Given the description of an element on the screen output the (x, y) to click on. 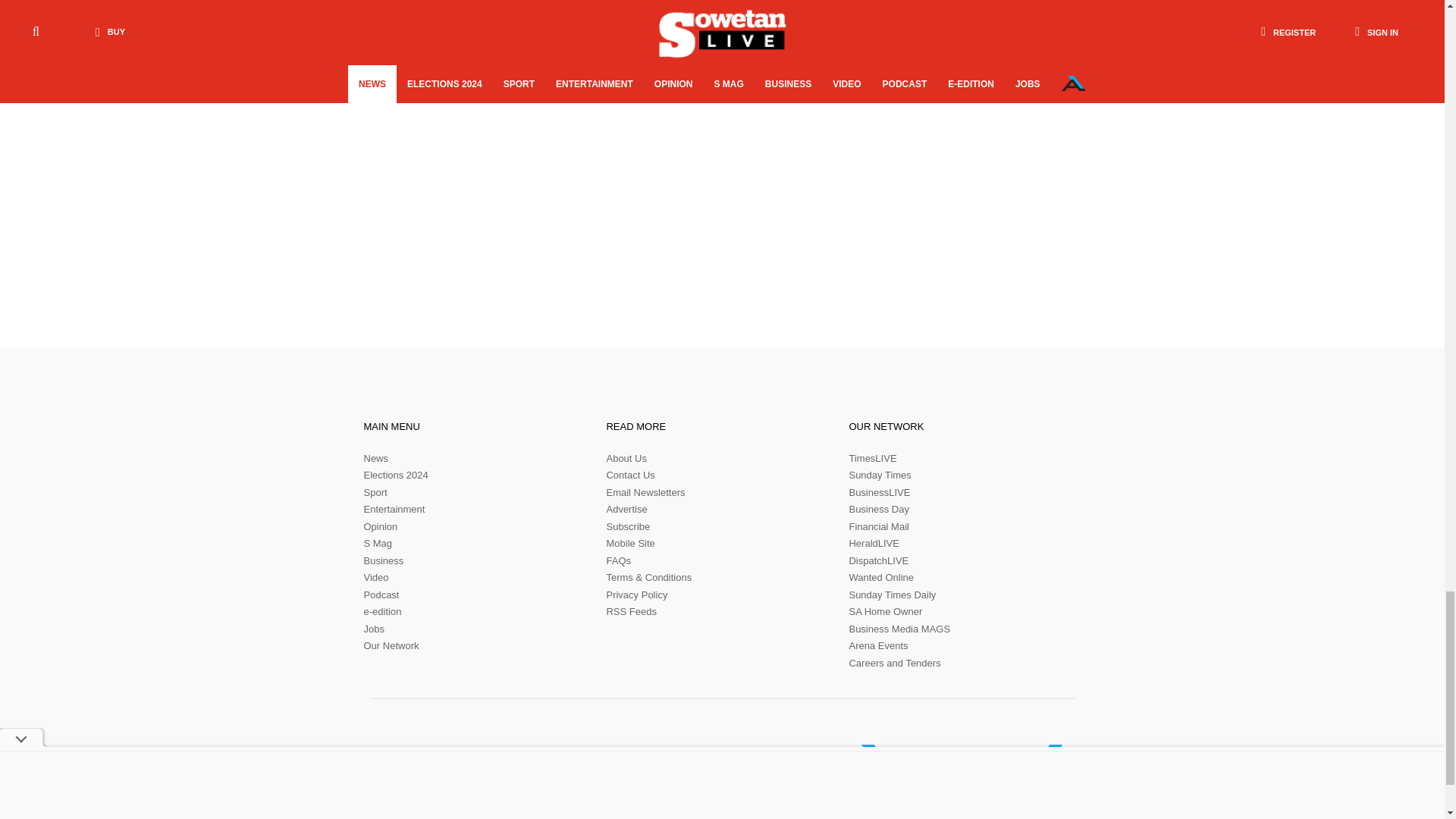
3rd party ad content (970, 145)
